Given the description of an element on the screen output the (x, y) to click on. 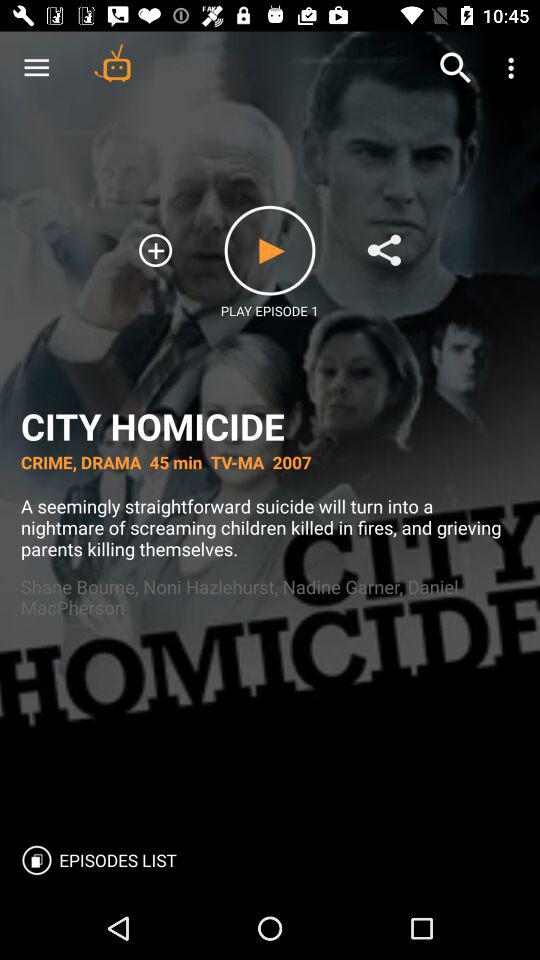
conect to tv (112, 62)
